Given the description of an element on the screen output the (x, y) to click on. 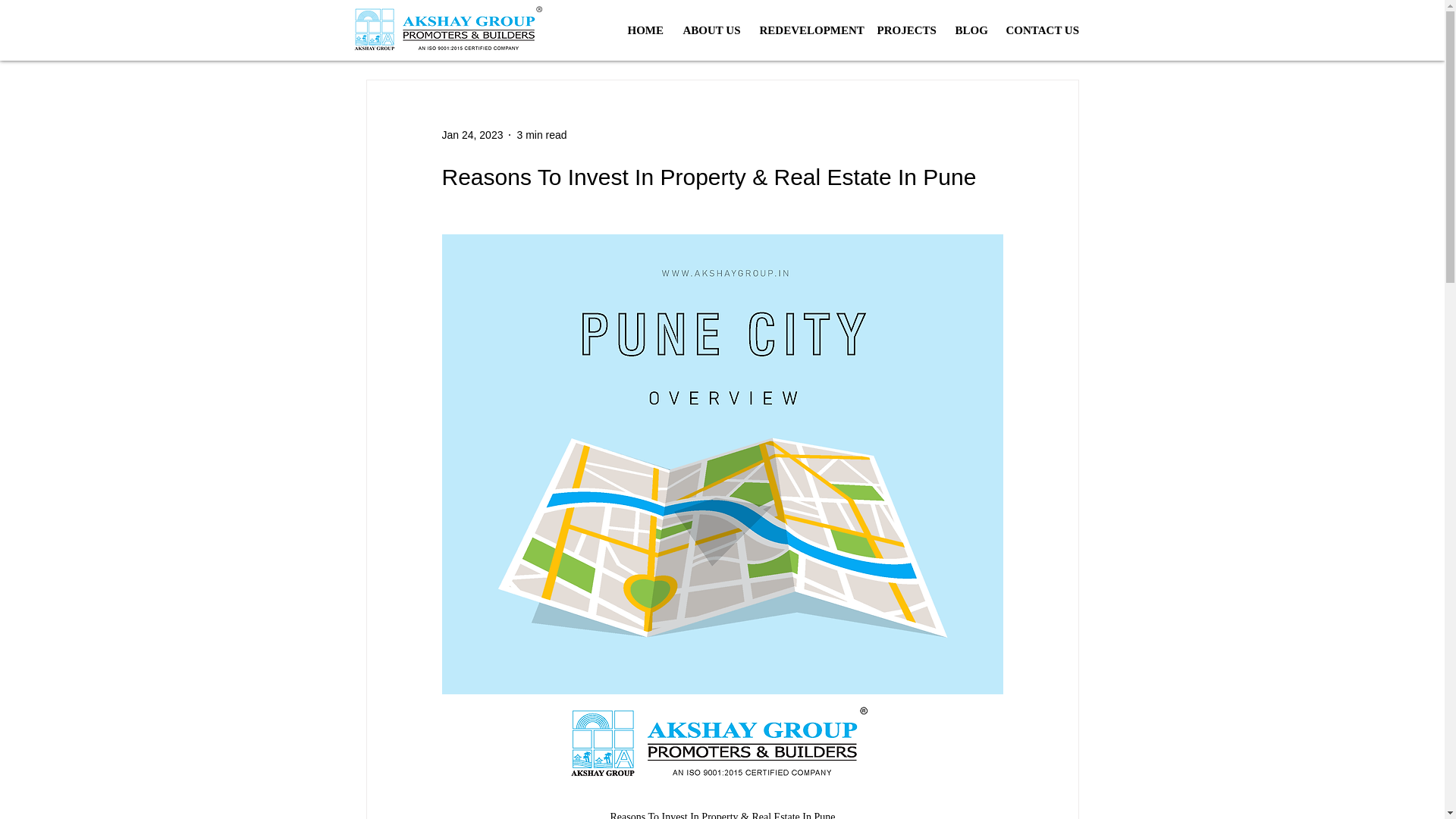
REDEVELOPMENT (806, 30)
HOME (643, 30)
3 min read (541, 134)
Jan 24, 2023 (471, 134)
BLOG (968, 30)
ABOUT US (709, 30)
CONTACT US (1040, 30)
